Given the description of an element on the screen output the (x, y) to click on. 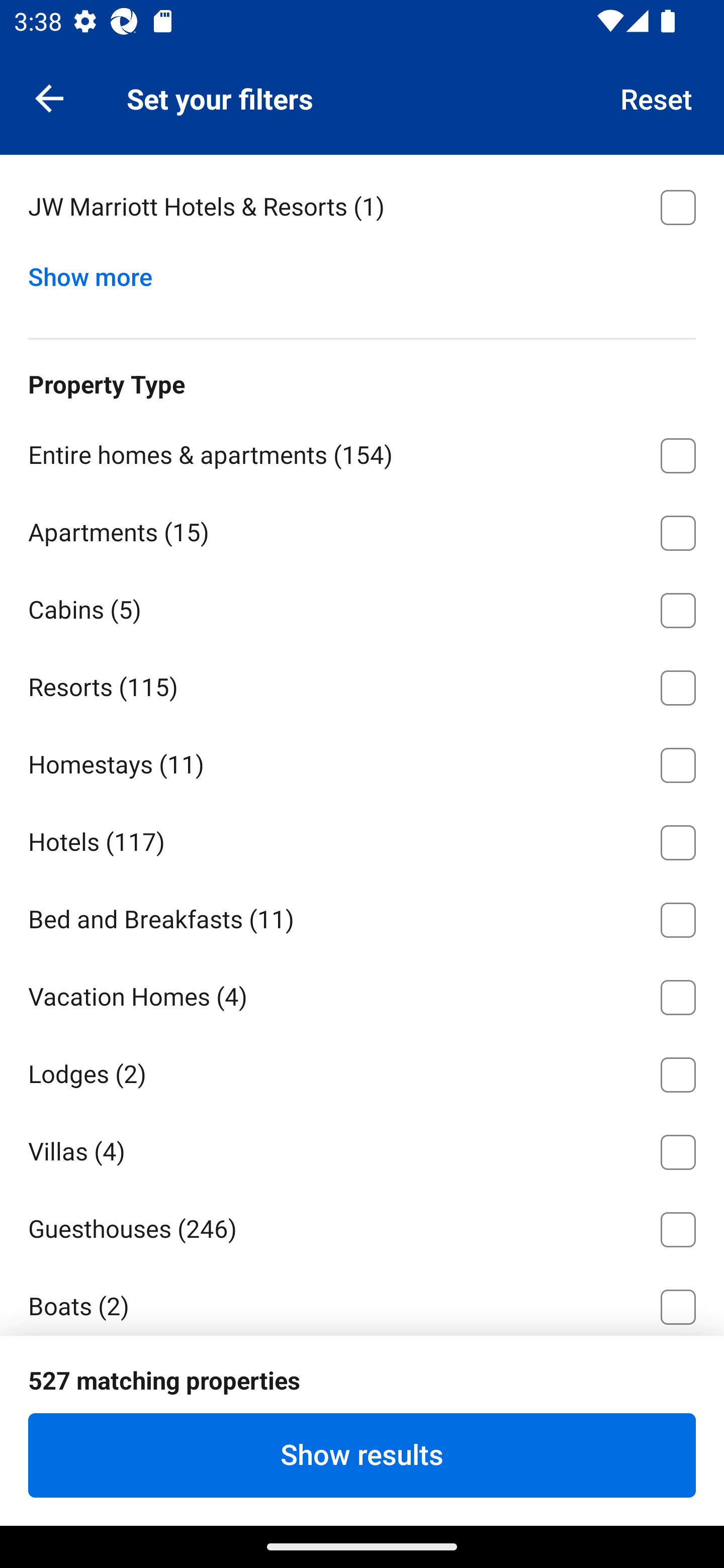
Navigate up (49, 97)
Reset (656, 97)
JW Marriott Hotels & Resorts ⁦(1) (361, 206)
Show more (97, 271)
Entire homes & apartments ⁦(154) (361, 451)
Apartments ⁦(15) (361, 528)
Cabins ⁦(5) (361, 606)
Resorts ⁦(115) (361, 684)
Homestays ⁦(11) (361, 761)
Hotels ⁦(117) (361, 839)
Bed and Breakfasts ⁦(11) (361, 916)
Vacation Homes ⁦(4) (361, 993)
Lodges ⁦(2) (361, 1071)
Villas ⁦(4) (361, 1148)
Guesthouses ⁦(246) (361, 1225)
Boats ⁦(2) (361, 1300)
Show results (361, 1454)
